Given the description of an element on the screen output the (x, y) to click on. 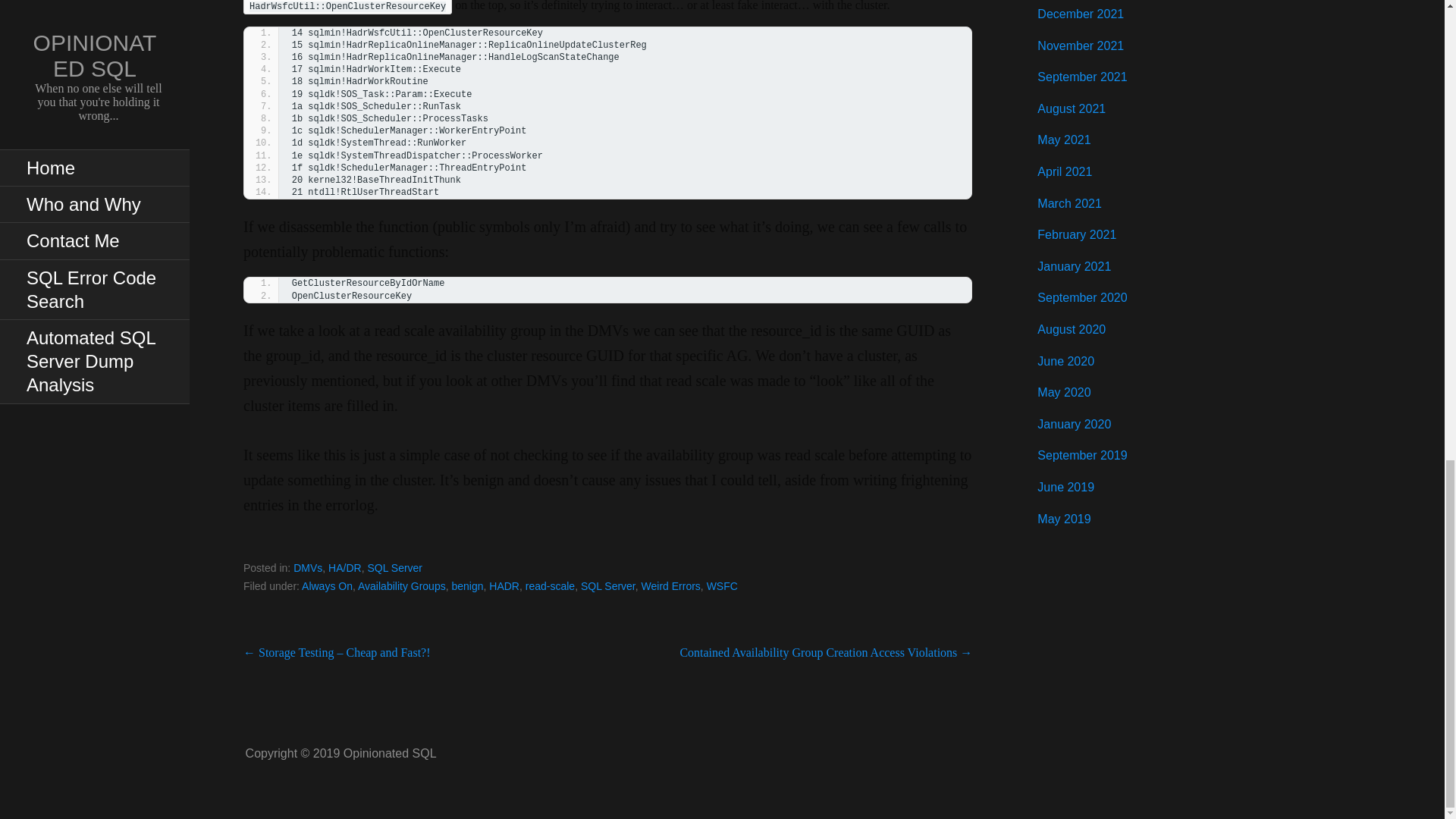
benign (467, 585)
WSFC (722, 585)
read-scale (550, 585)
HADR (504, 585)
Always On (326, 585)
DMVs (307, 567)
Weird Errors (671, 585)
Availability Groups (401, 585)
SQL Server (394, 567)
SQL Server (607, 289)
